Given the description of an element on the screen output the (x, y) to click on. 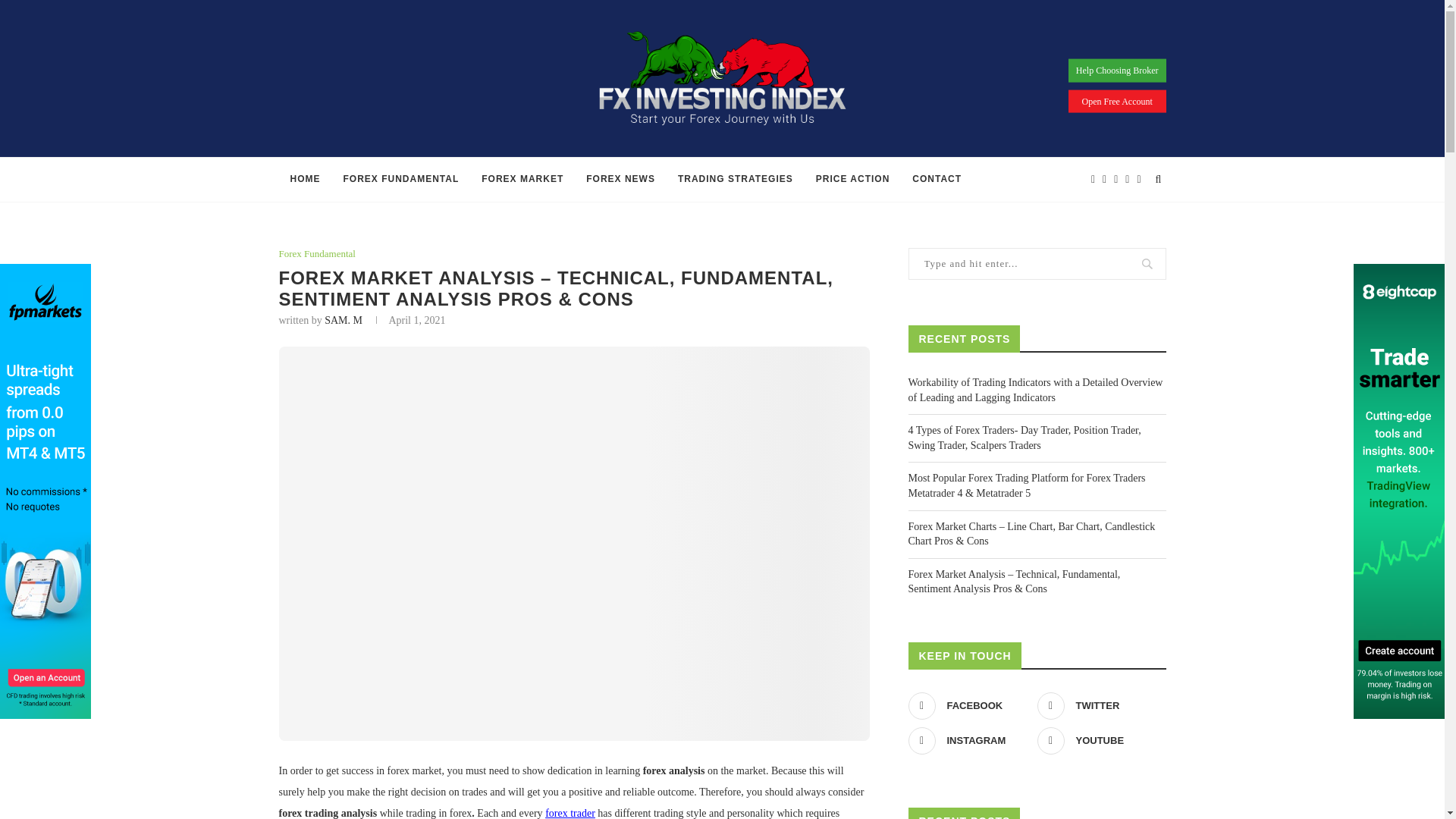
HOME (305, 179)
Help Choosing Broker (1117, 69)
FOREX FUNDAMENTAL (400, 179)
PRICE ACTION (853, 179)
TRADING STRATEGIES (735, 179)
Forex Fundamental (317, 254)
CONTACT (936, 179)
SAM. M (343, 319)
FOREX NEWS (620, 179)
Open Free Account (1117, 100)
forex trader (569, 813)
FOREX MARKET (522, 179)
